Given the description of an element on the screen output the (x, y) to click on. 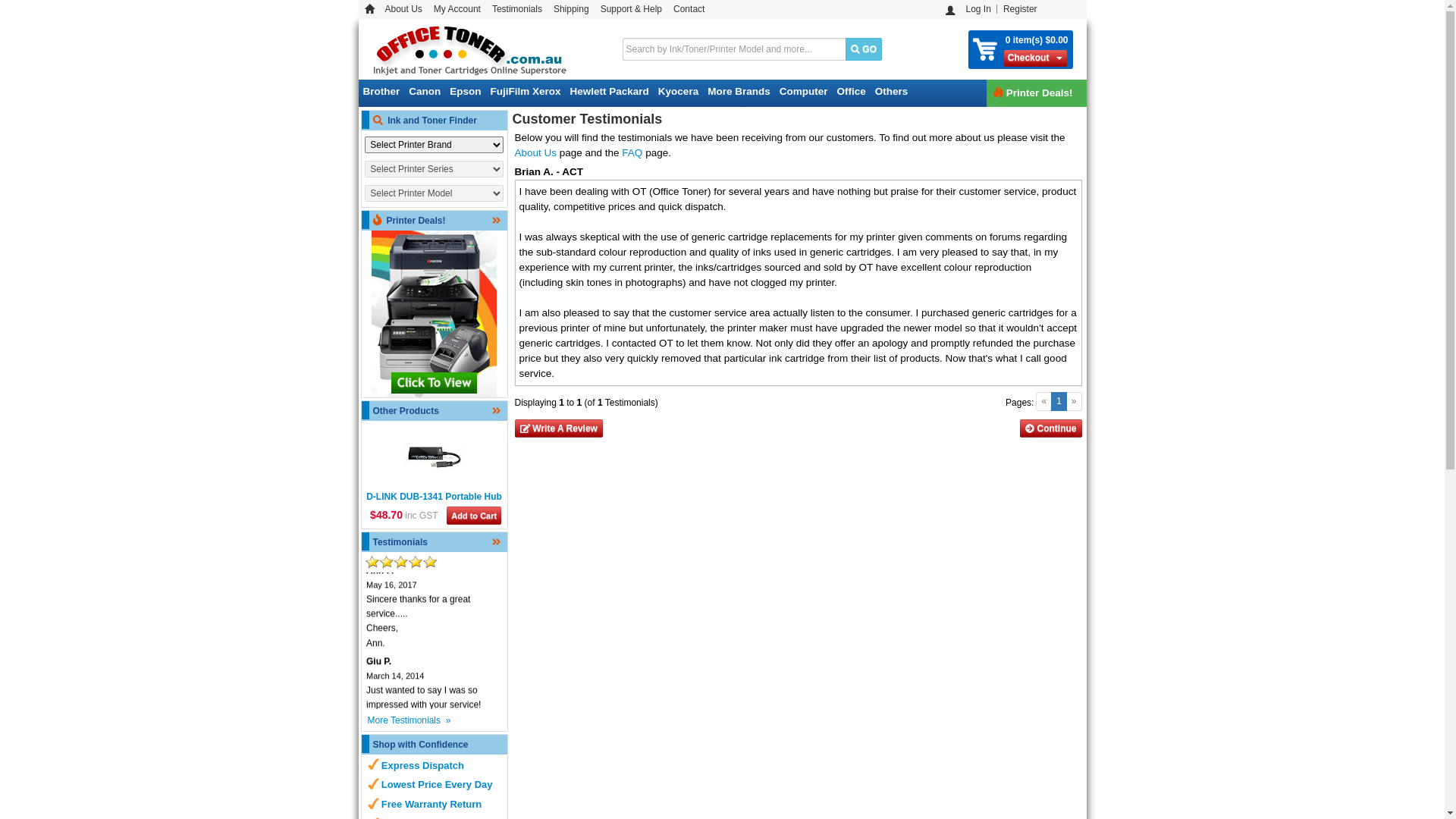
Shipping Element type: text (570, 9)
FujiFilm Xerox Element type: text (525, 91)
Printer Market Element type: hover (433, 313)
More Brands Element type: text (738, 91)
Kyocera Element type: text (677, 91)
View Shopping Cart Element type: hover (985, 49)
Checkout Element type: text (1028, 58)
Write A Review Element type: text (558, 428)
Hewlett Packard Element type: text (609, 91)
1
(current) Element type: text (1058, 401)
Computer Element type: text (803, 91)
My Account Element type: text (456, 9)
Register Element type: text (1019, 9)
Epson Element type: text (465, 91)
Add to Cart Element type: text (473, 515)
Office Element type: text (850, 91)
Others Element type: text (891, 91)
more Element type: text (375, 796)
GO Element type: text (863, 48)
D-LINK DUB-1341 Portable Hub Element type: text (434, 496)
Free Warranty Return Element type: text (431, 804)
Canon Element type: text (424, 91)
Testimonials Element type: text (516, 9)
OfficeToner.com.au Element type: hover (468, 48)
Brother Element type: text (380, 91)
Express Dispatch Element type: text (422, 765)
D-LINK DUB-1341 Portable Hub Element type: hover (433, 456)
FAQ Element type: text (631, 152)
Contact Element type: text (688, 9)
About Us Element type: text (535, 152)
Continue Element type: text (1050, 428)
Log In Element type: text (978, 9)
Support & Help Element type: text (630, 9)
About Us Element type: text (403, 9)
 Printer Deals! Element type: text (1036, 92)
Lowest Price Every Day Element type: text (436, 784)
